Given the description of an element on the screen output the (x, y) to click on. 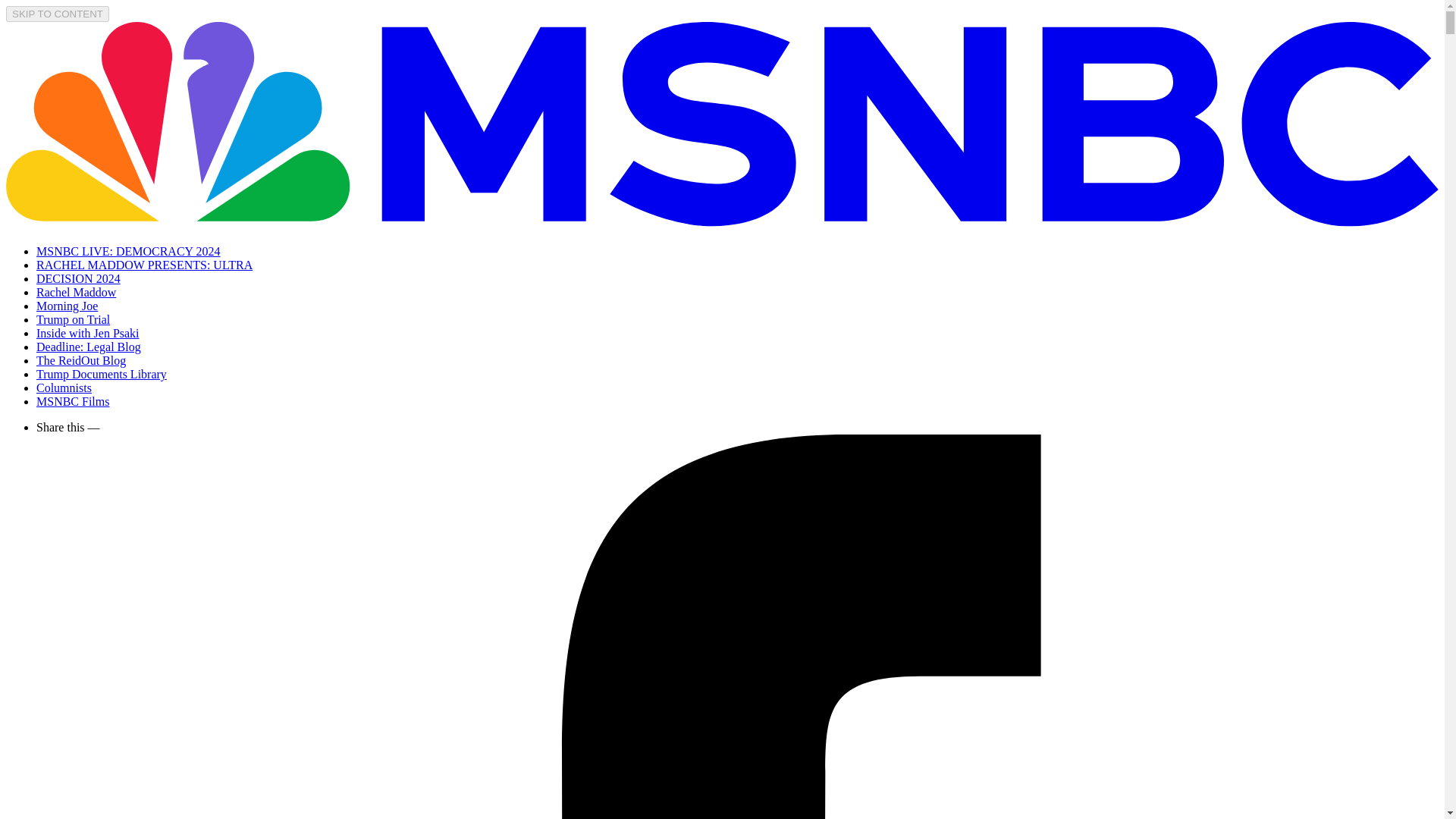
Rachel Maddow (76, 291)
Trump on Trial (73, 318)
Deadline: Legal Blog (88, 346)
DECISION 2024 (78, 278)
Morning Joe (66, 305)
MSNBC Films (72, 400)
The ReidOut Blog (80, 359)
Inside with Jen Psaki (87, 332)
RACHEL MADDOW PRESENTS: ULTRA (143, 264)
Trump Documents Library (101, 373)
